Given the description of an element on the screen output the (x, y) to click on. 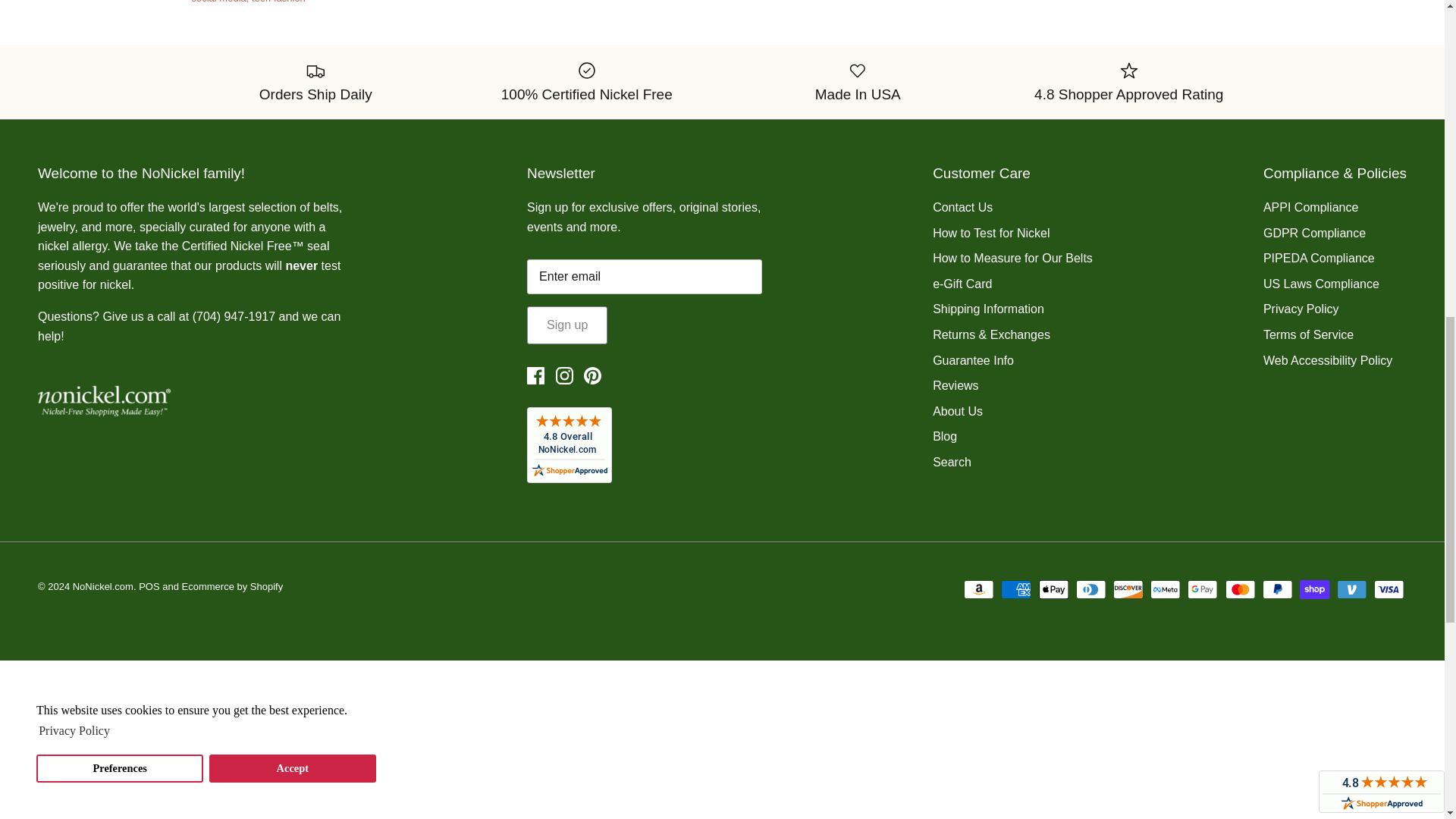
Pinterest (592, 375)
Show articles tagged teen fashion (278, 2)
Apple Pay (1053, 588)
Show articles tagged social media (219, 2)
Amazon (978, 588)
Instagram (564, 375)
Facebook (535, 375)
American Express (1015, 588)
